Given the description of an element on the screen output the (x, y) to click on. 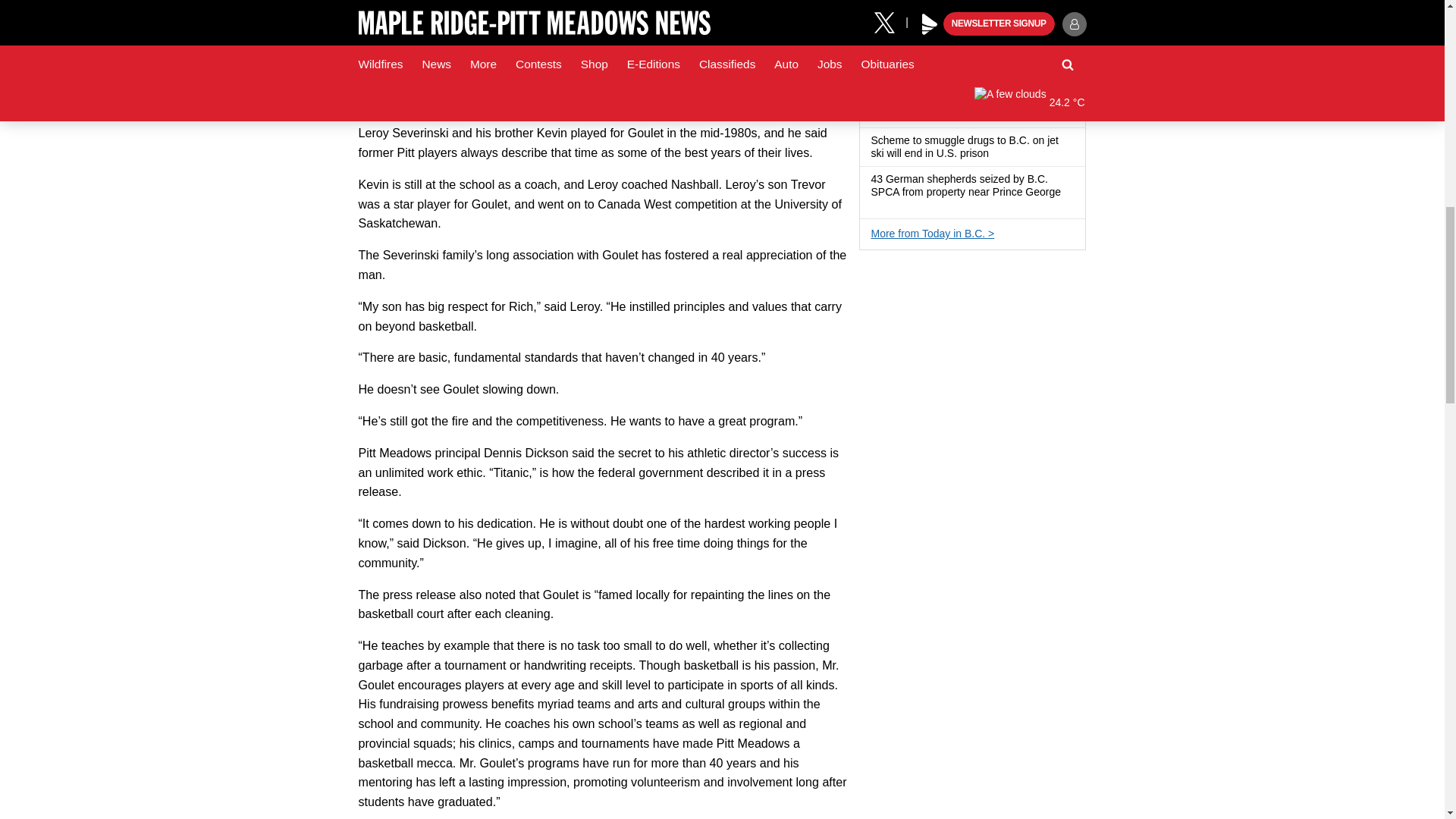
Has a gallery (876, 205)
